Given the description of an element on the screen output the (x, y) to click on. 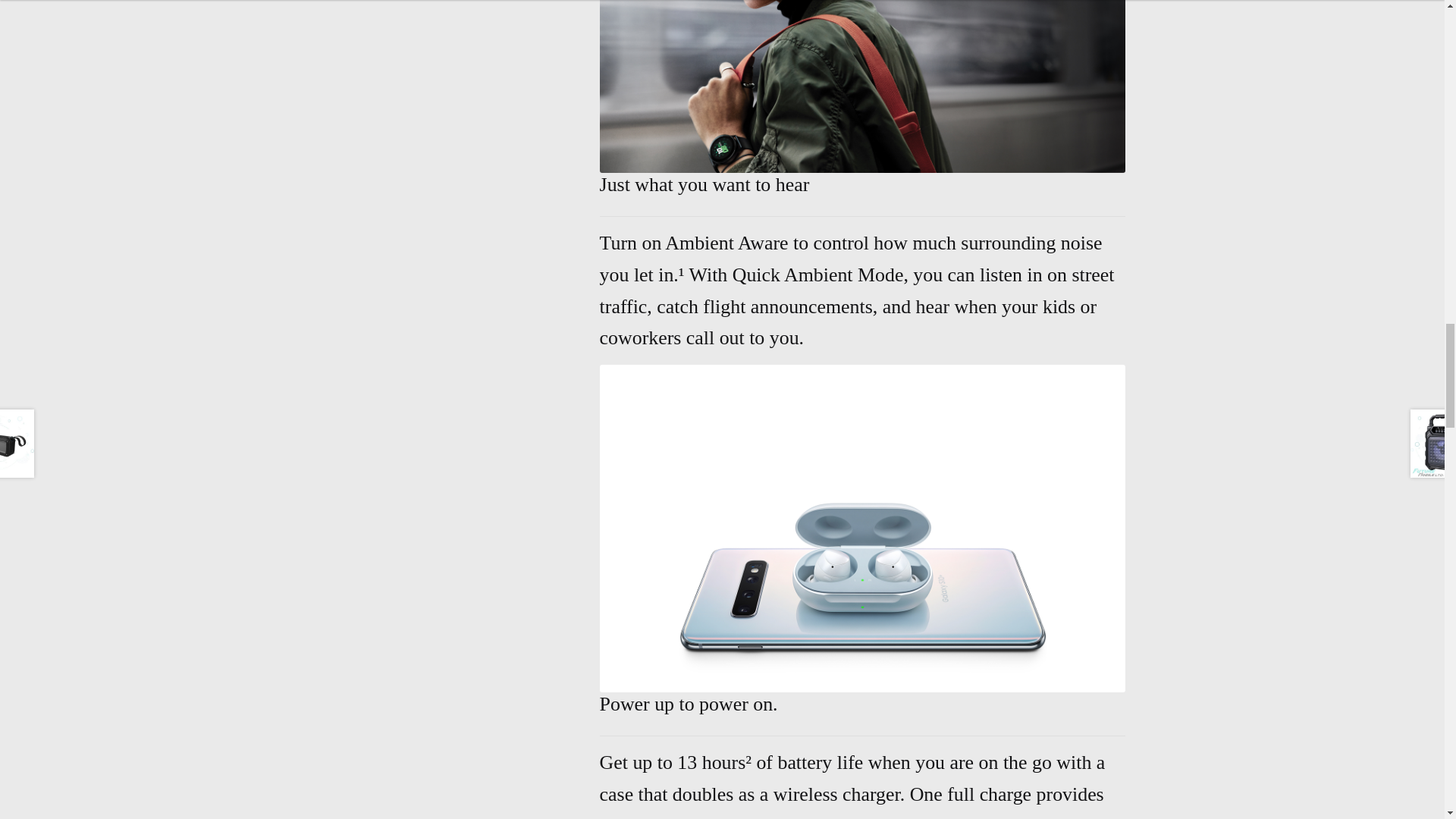
Just what you want to hear (862, 85)
